Given the description of an element on the screen output the (x, y) to click on. 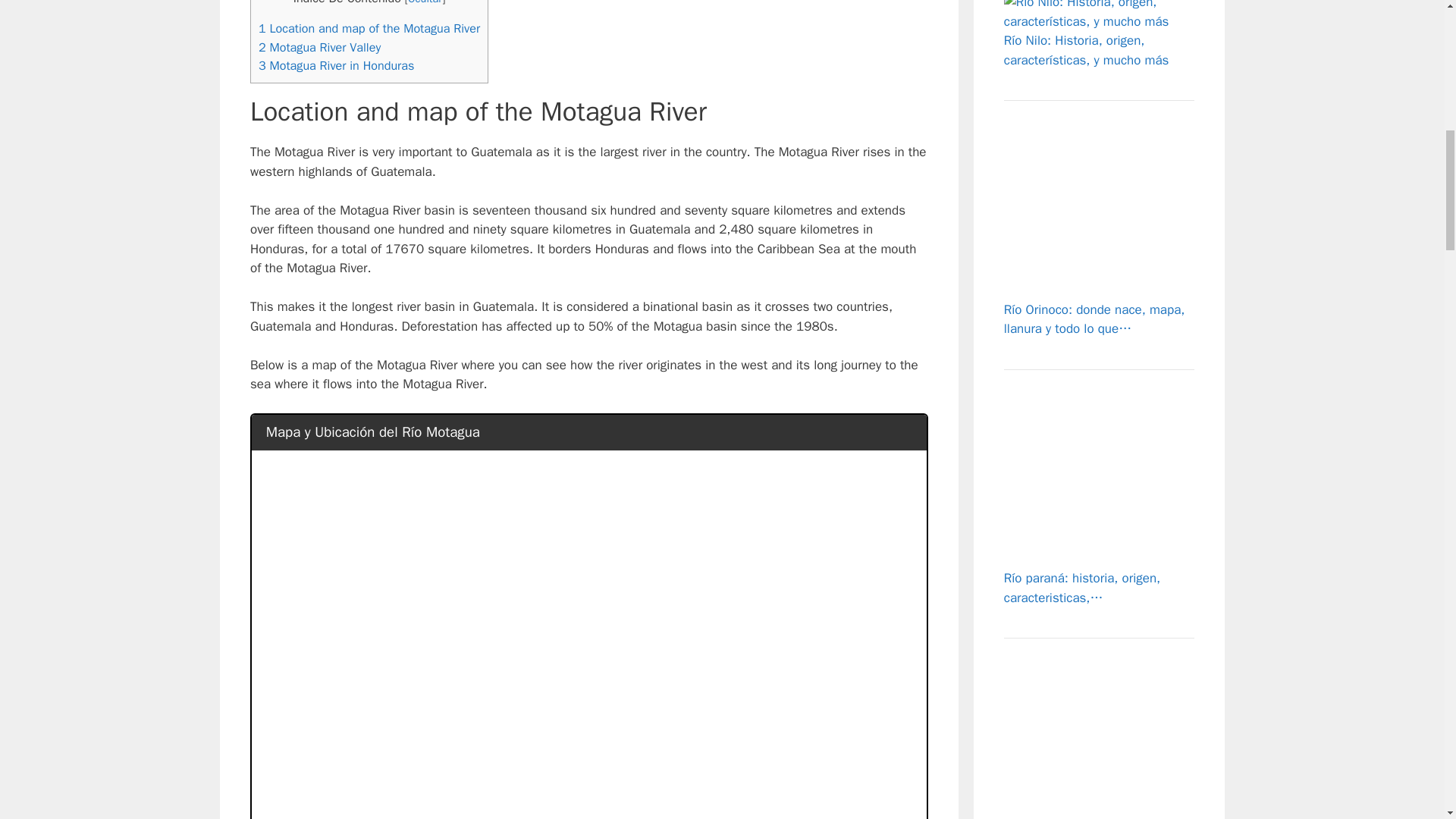
1 Location and map of the Motagua River (369, 28)
Ocultar (424, 2)
3 Motagua River in Honduras (336, 65)
2 Motagua River Valley (319, 47)
